Given the description of an element on the screen output the (x, y) to click on. 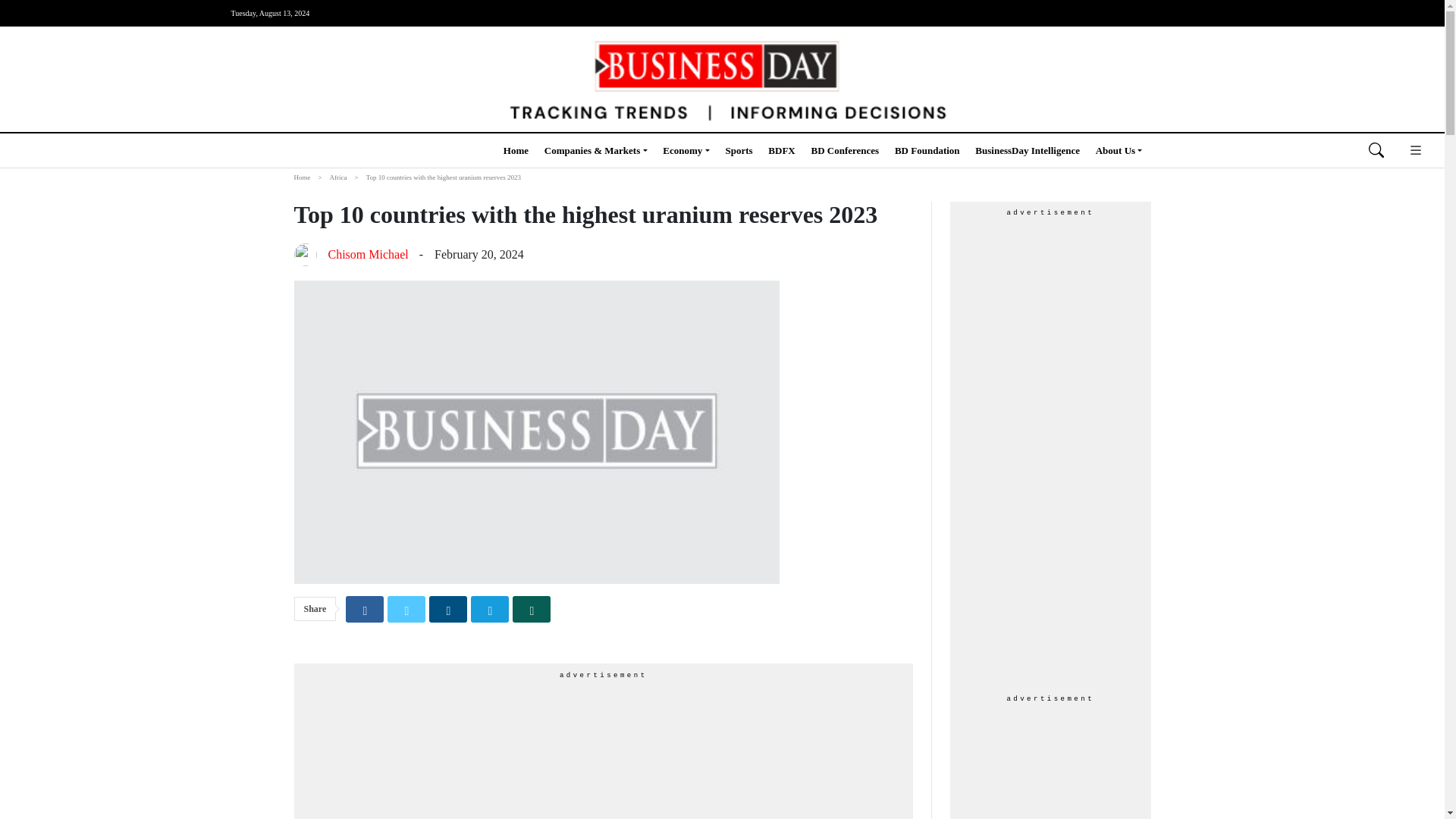
BD Conferences (844, 149)
About Us (1119, 149)
About Us (1119, 149)
BusinessDay Intelligence (1027, 149)
BD Conferences (844, 149)
Economy (685, 149)
BD Foundation (927, 149)
BD Foundation (927, 149)
BusinessDay Intelligence (1027, 149)
Economy (685, 149)
